Given the description of an element on the screen output the (x, y) to click on. 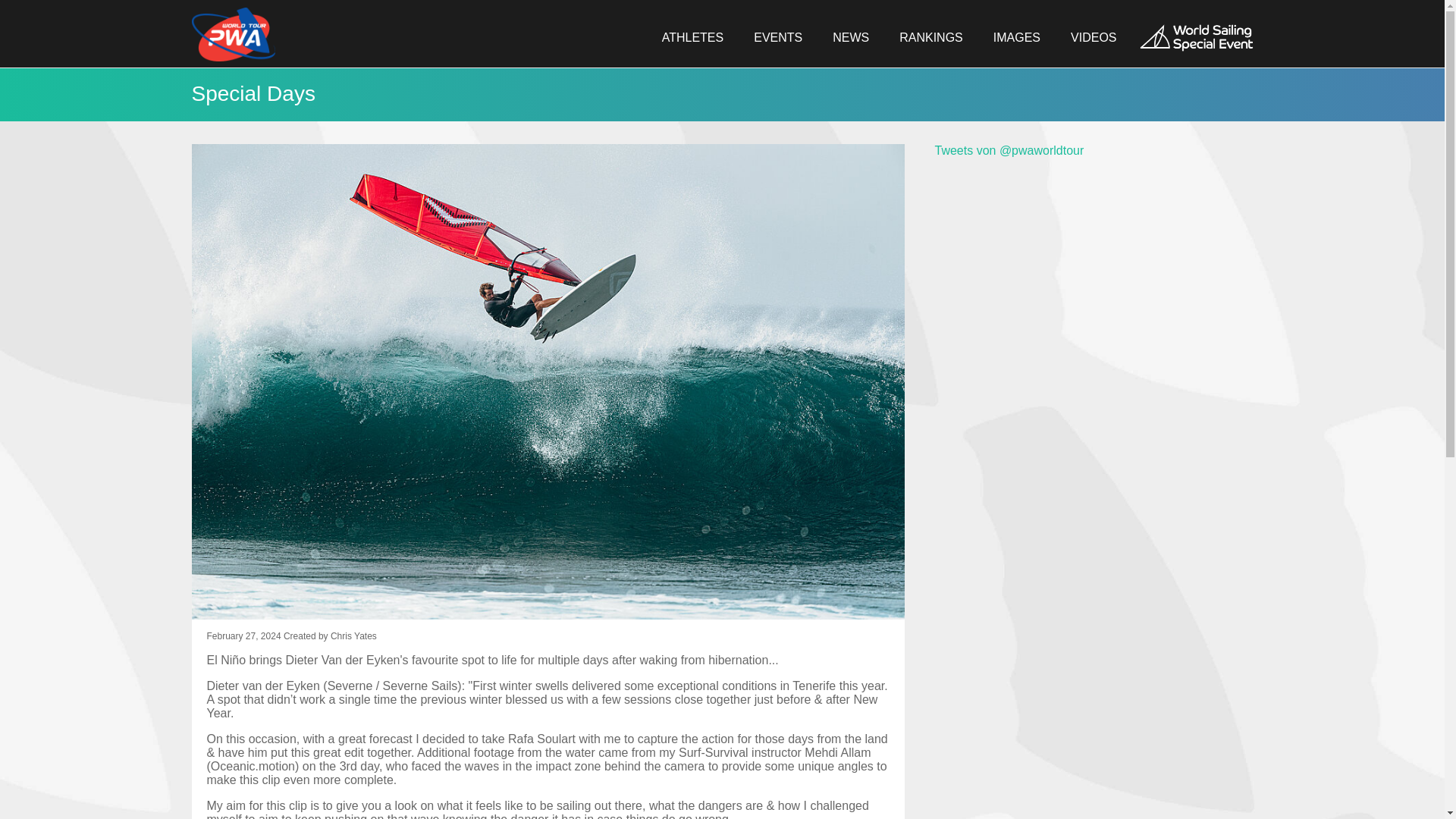
IMAGES (1016, 37)
EVENTS (778, 37)
VIDEOS (1093, 37)
RANKINGS (930, 37)
ATHLETES (692, 37)
